Given the description of an element on the screen output the (x, y) to click on. 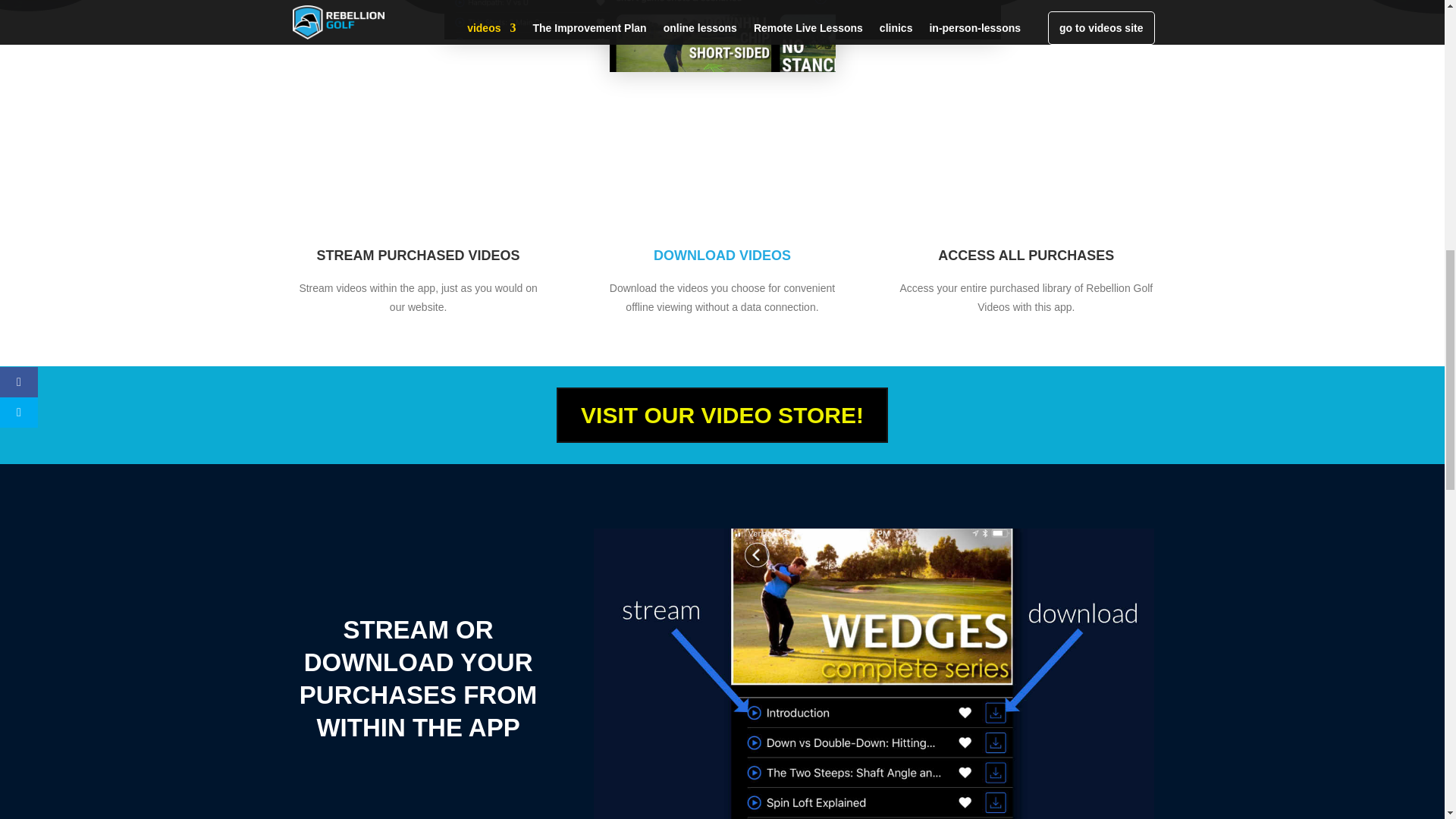
VISIT OUR VIDEO STORE! (722, 415)
